Given the description of an element on the screen output the (x, y) to click on. 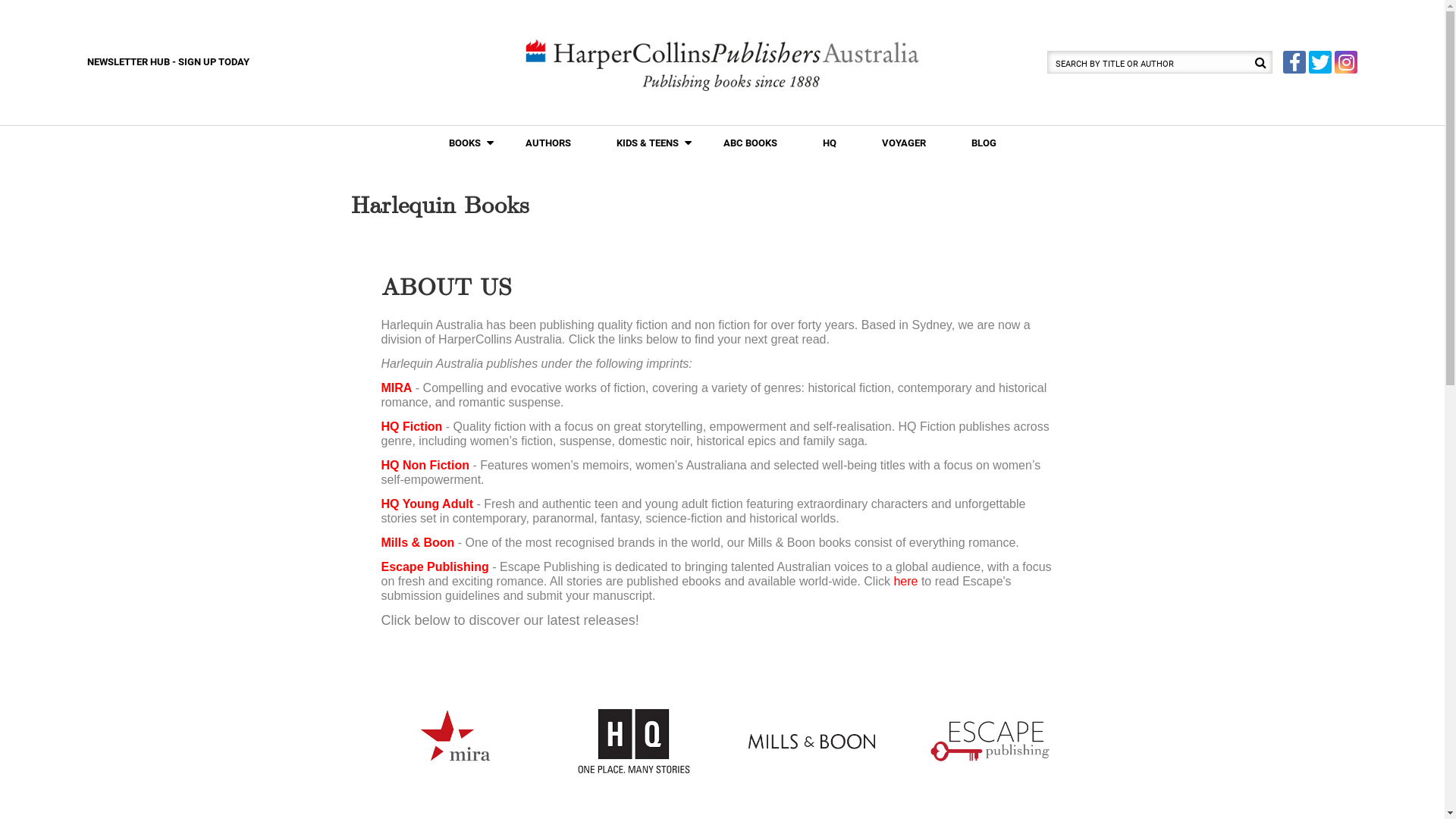
Escape Publishing Element type: text (434, 566)
AUTHORS Element type: text (547, 142)
BOOKS Element type: text (463, 142)
HQ Element type: text (828, 142)
HQ Young Adult  Element type: text (428, 503)
mb Element type: hover (810, 741)
NEWSLETTER HUB - SIGN UP TODAY Element type: text (168, 61)
Twitter Element type: hover (1319, 61)
HQ Non Fiction Element type: text (424, 464)
Search: Element type: hover (1159, 61)
Facebook Element type: hover (1294, 61)
hq Element type: hover (633, 741)
HQ Fiction Element type: text (411, 426)
MIRA  Element type: text (397, 387)
VOYAGER Element type: text (902, 142)
BLOG Element type: text (982, 142)
Mills & Boon Element type: text (417, 542)
Follow us on Instagram Element type: hover (1345, 62)
escape Element type: hover (989, 741)
ABC BOOKS Element type: text (750, 142)
mira Element type: hover (454, 741)
Harper Collins Australia Element type: hover (722, 63)
here Element type: text (905, 580)
KIDS & TEENS Element type: text (645, 142)
